Given the description of an element on the screen output the (x, y) to click on. 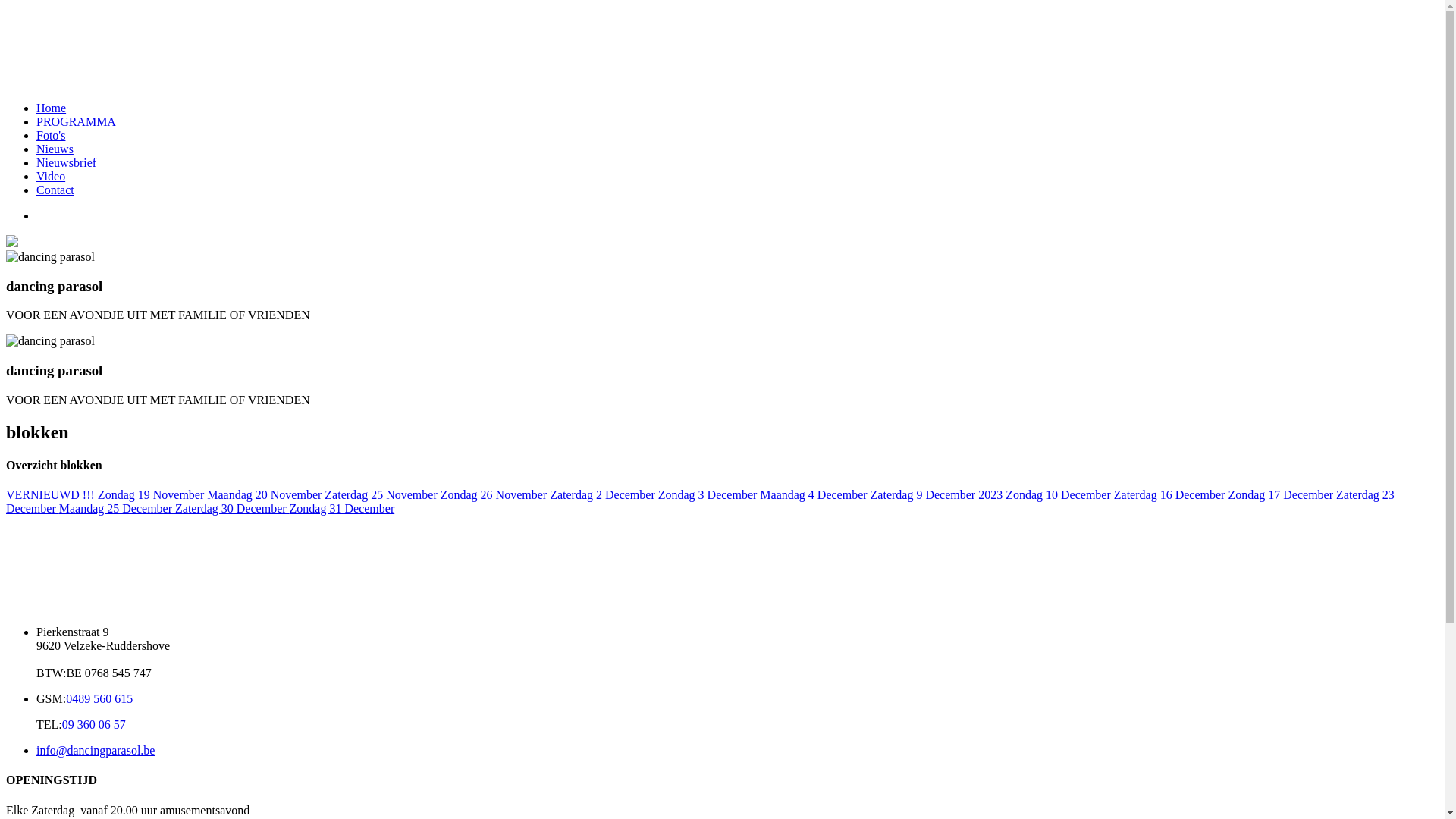
Zondag 3 December Element type: text (709, 494)
Nieuws Element type: text (54, 148)
Zondag 19 November Element type: text (152, 494)
Maandag 20 November Element type: text (265, 494)
Maandag 25 December Element type: text (117, 508)
Contact Element type: text (55, 189)
Video Element type: text (50, 175)
Home Element type: text (50, 107)
Zaterdag 30 December Element type: text (232, 508)
PROGRAMMA Element type: text (76, 121)
Zondag 26 November Element type: text (494, 494)
Foto's Element type: text (50, 134)
Zaterdag 9 December 2023 Element type: text (938, 494)
09 360 06 57 Element type: text (93, 724)
Zaterdag 2 December Element type: text (603, 494)
info@dancingparasol.be Element type: text (95, 749)
Nieuwsbrief Element type: text (66, 162)
Zondag 31 December Element type: text (342, 508)
Zondag 10 December Element type: text (1059, 494)
0489 560 615 Element type: text (98, 698)
Zaterdag 25 November Element type: text (381, 494)
VERNIEUWD !!! Element type: text (51, 494)
Zondag 17 December Element type: text (1281, 494)
Zaterdag 16 December Element type: text (1170, 494)
Zaterdag 23 December Element type: text (700, 501)
Maandag 4 December Element type: text (814, 494)
